Given the description of an element on the screen output the (x, y) to click on. 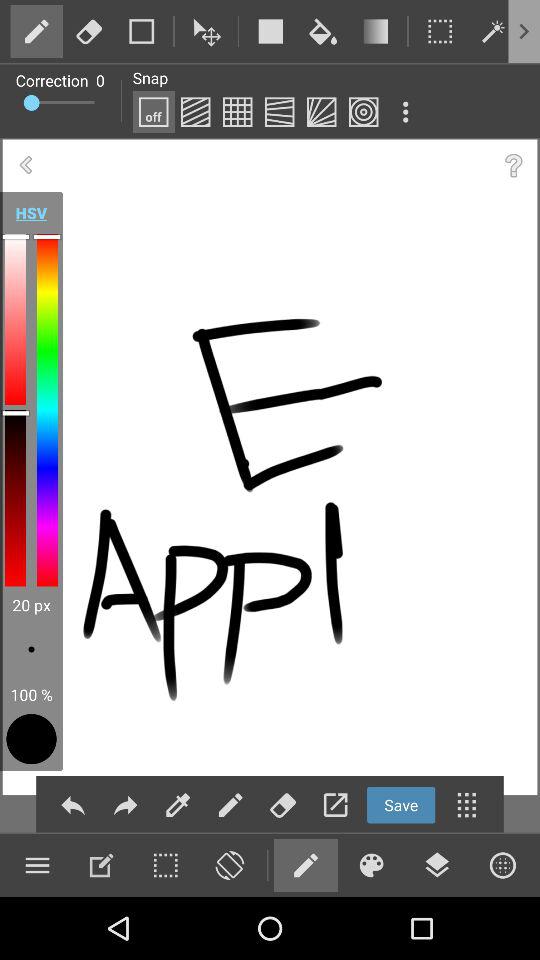
draw rectangle (270, 31)
